Given the description of an element on the screen output the (x, y) to click on. 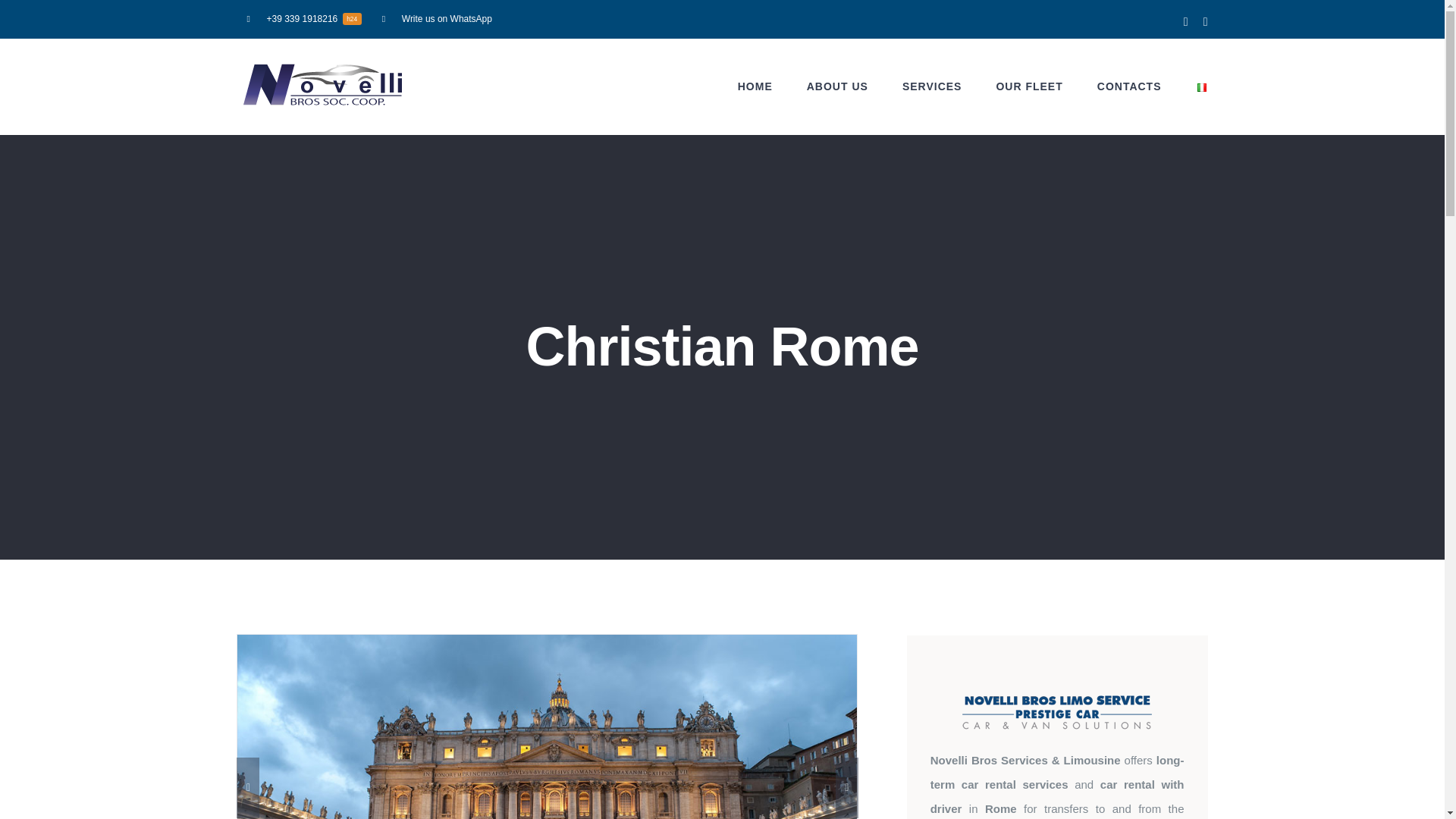
Write us on WhatsApp (437, 18)
